Given the description of an element on the screen output the (x, y) to click on. 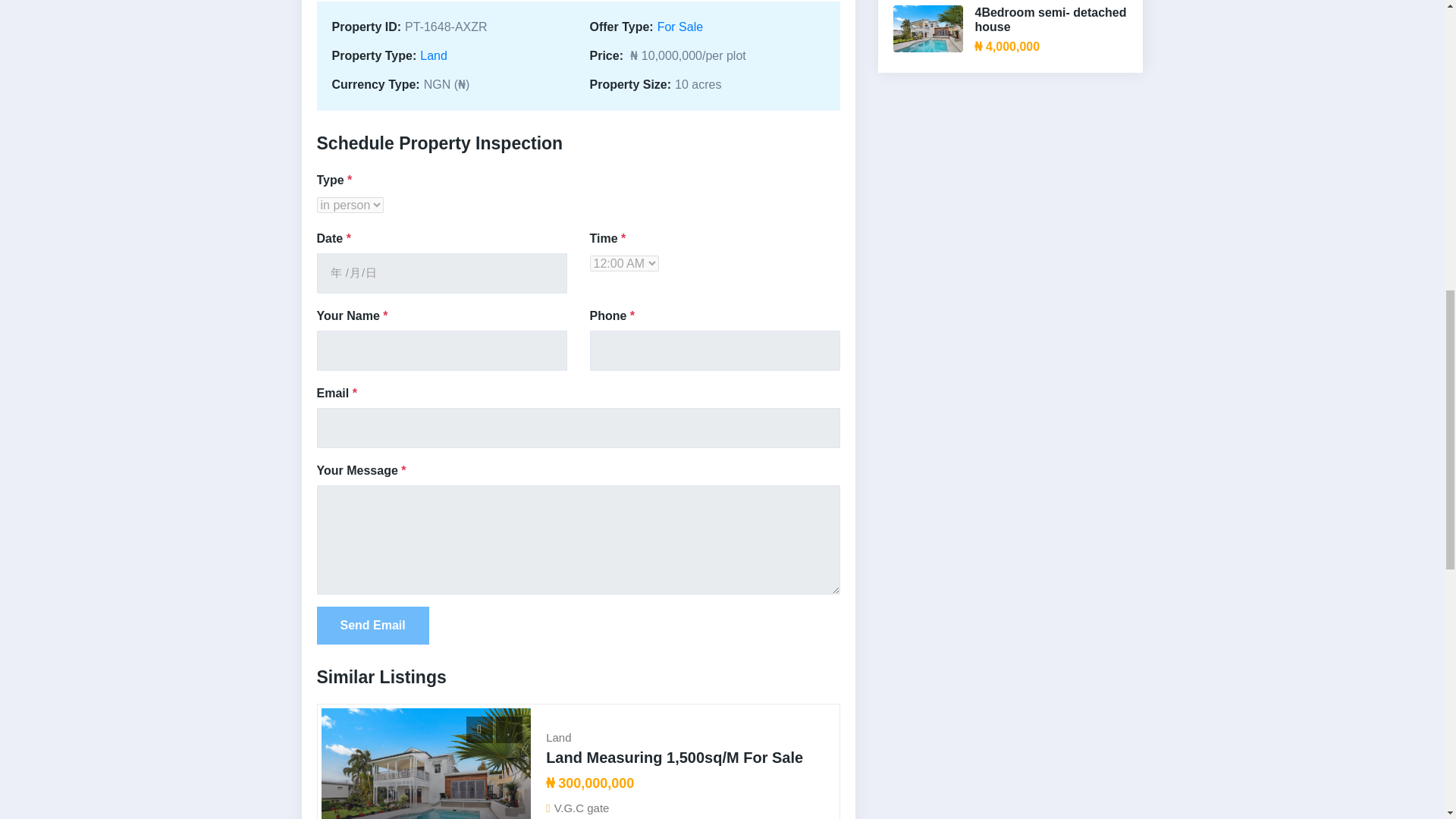
Land (433, 55)
Send Email (373, 625)
For Sale (680, 26)
